Given the description of an element on the screen output the (x, y) to click on. 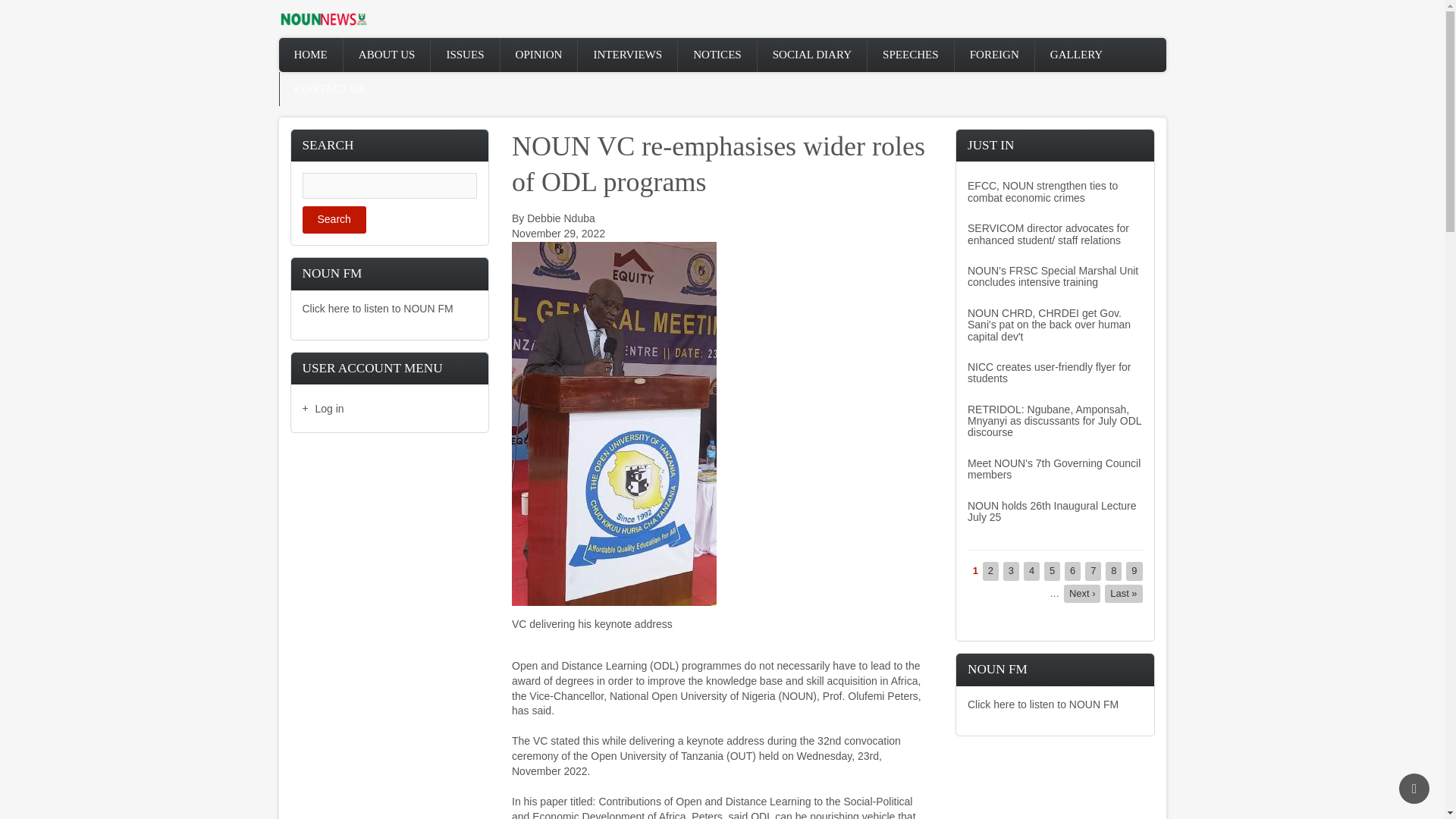
SPEECHES (910, 54)
NOTICES (717, 54)
NICC creates user-friendly flyer for students (1049, 372)
OPINION (539, 54)
HOME (310, 54)
FOREIGN (994, 54)
GALLERY (1076, 54)
Enter the terms you wish to search for. (389, 185)
ABOUT US (386, 54)
NOUN holds 26th Inaugural Lecture July 25 (1052, 511)
Go to last page (1123, 593)
INTERVIEWS (627, 54)
